Given the description of an element on the screen output the (x, y) to click on. 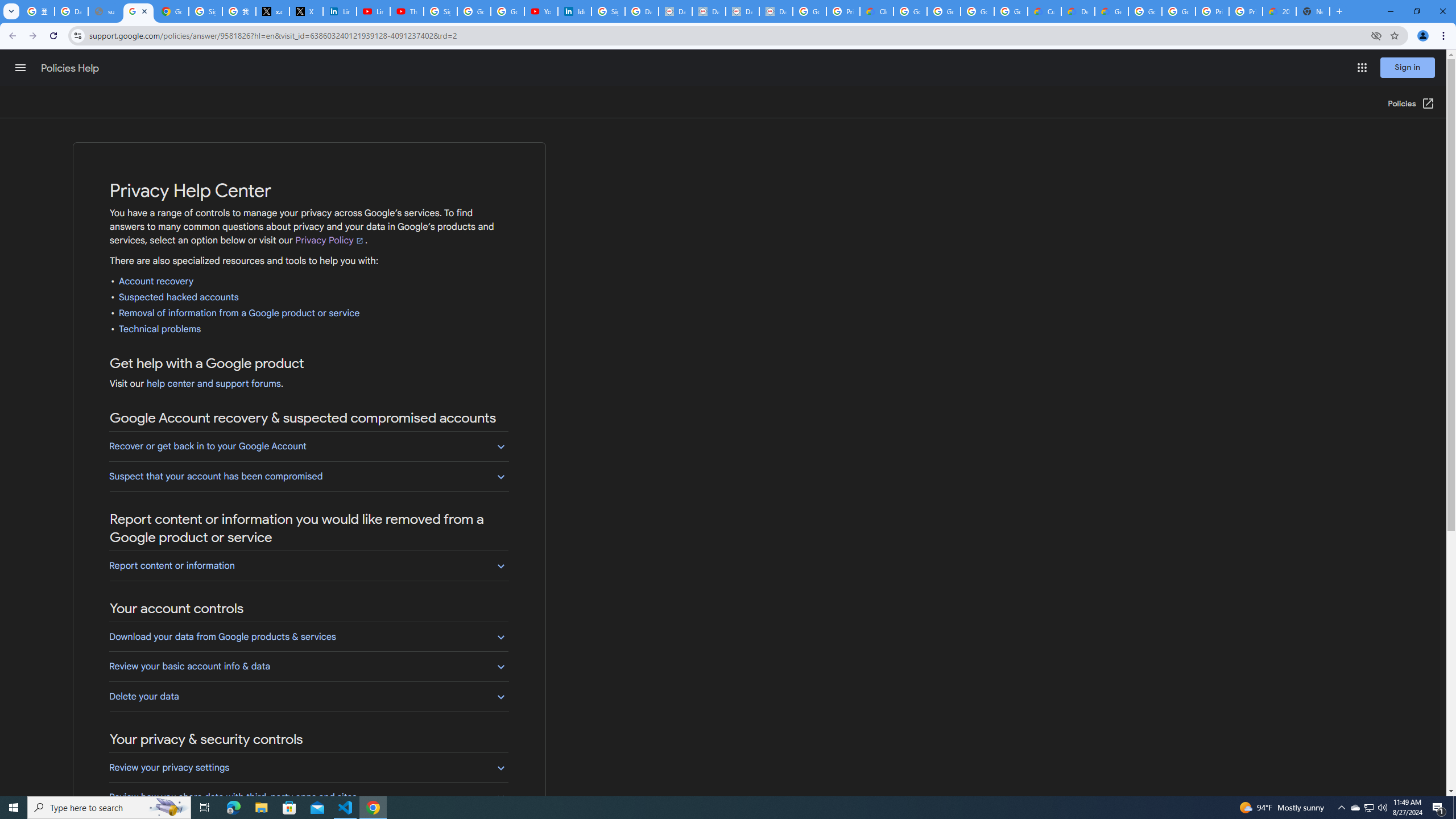
Policies Help (70, 68)
Gemini for Business and Developers | Google Cloud (1111, 11)
Suspect that your account has been compromised (308, 476)
LinkedIn Privacy Policy (339, 11)
Review how you share data with third-party apps and sites (308, 797)
Download your data from Google products & services (308, 636)
Account recovery (156, 281)
Technical problems (159, 328)
